Given the description of an element on the screen output the (x, y) to click on. 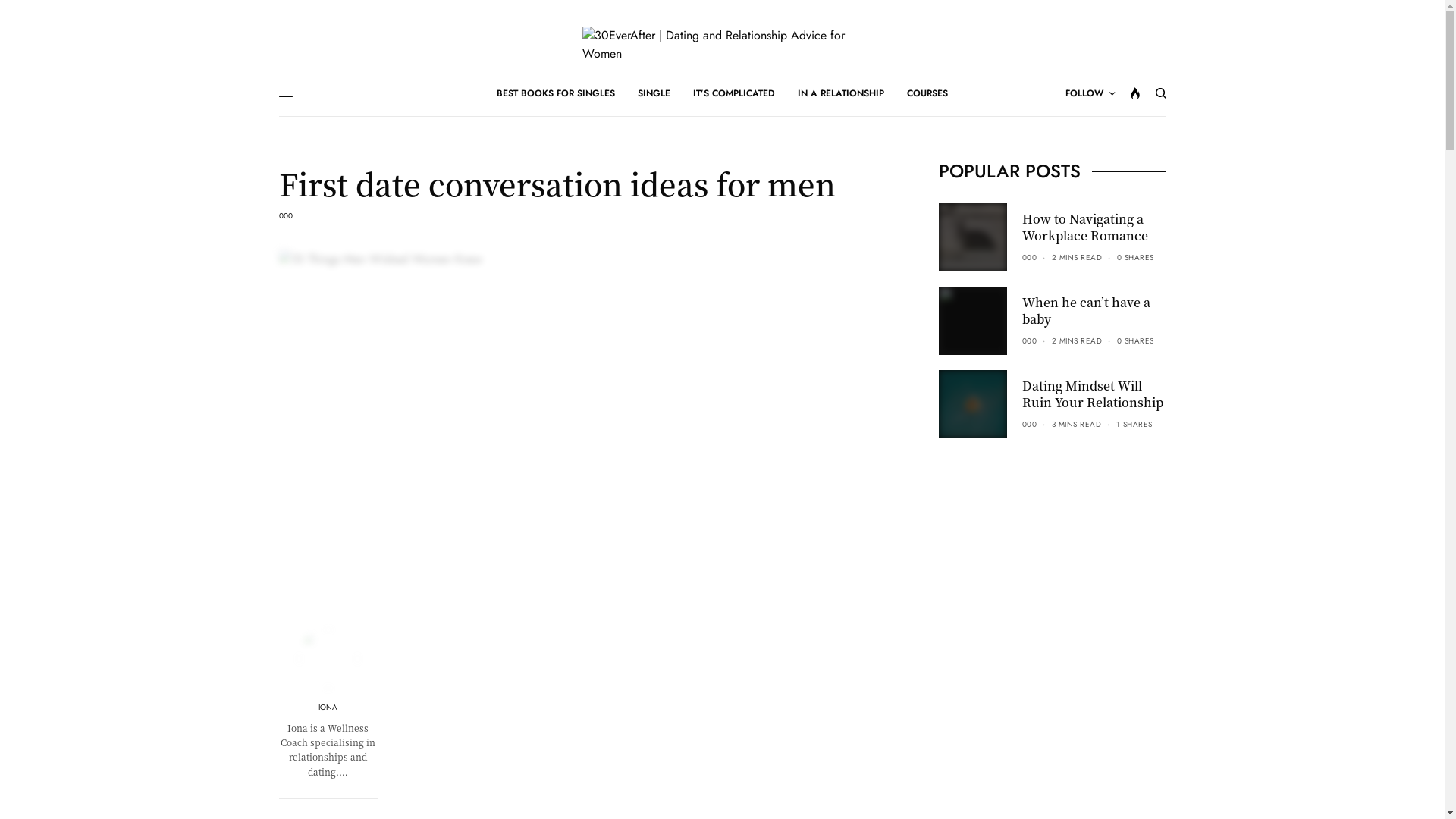
IONA Element type: text (328, 707)
FOLLOW Element type: text (1088, 93)
30EverAfter | Dating and Relationship Advice for Women Element type: hover (722, 44)
COURSES Element type: text (926, 93)
IN A RELATIONSHIP Element type: text (840, 93)
Dating Mindset Will Ruin Your Relationship Element type: text (1094, 394)
SINGLE Element type: text (653, 93)
How to Navigating a Workplace Romance Element type: text (1094, 227)
BEST BOOKS FOR SINGLES Element type: text (555, 93)
